Given the description of an element on the screen output the (x, y) to click on. 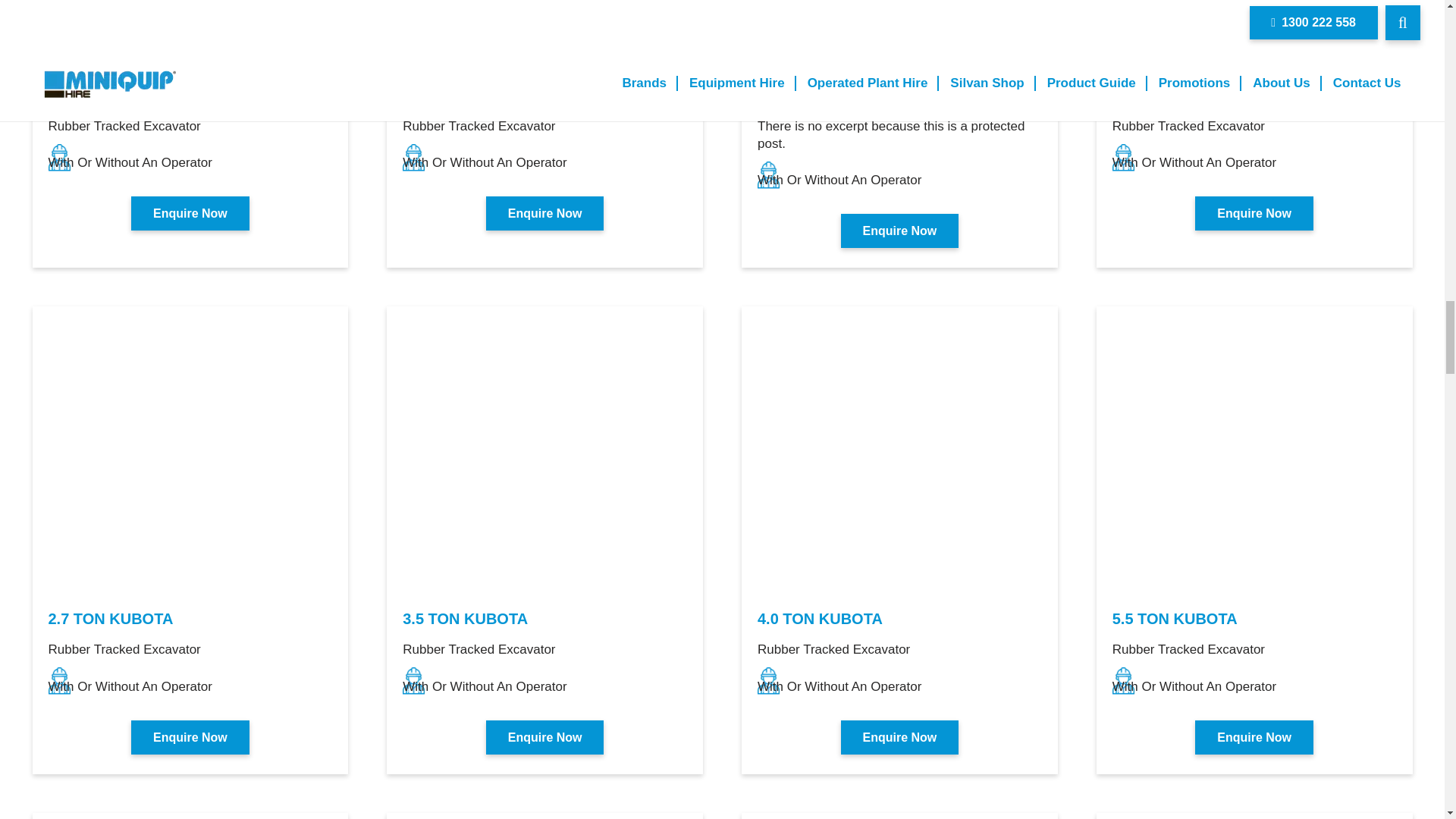
kubota 2.5 2.5 TON KUBOTA 8 (1254, 38)
KX018 hero TEST WITH LINK 6 (899, 38)
tb216 1.6 TON TAKEUCHI 2 (190, 38)
Kubota U35 4 3.5 TON KUBOTA 12 (545, 452)
kubota u27 4 1 2.7 TON KUBOTA 10 (190, 452)
KX040 4 4.0 TON KUBOTA 14 (899, 452)
U554 4 5.5 TON KUBOTA 16 (1254, 452)
KX018 hero 1.8 TON KUBOTA 4 (545, 38)
